Given the description of an element on the screen output the (x, y) to click on. 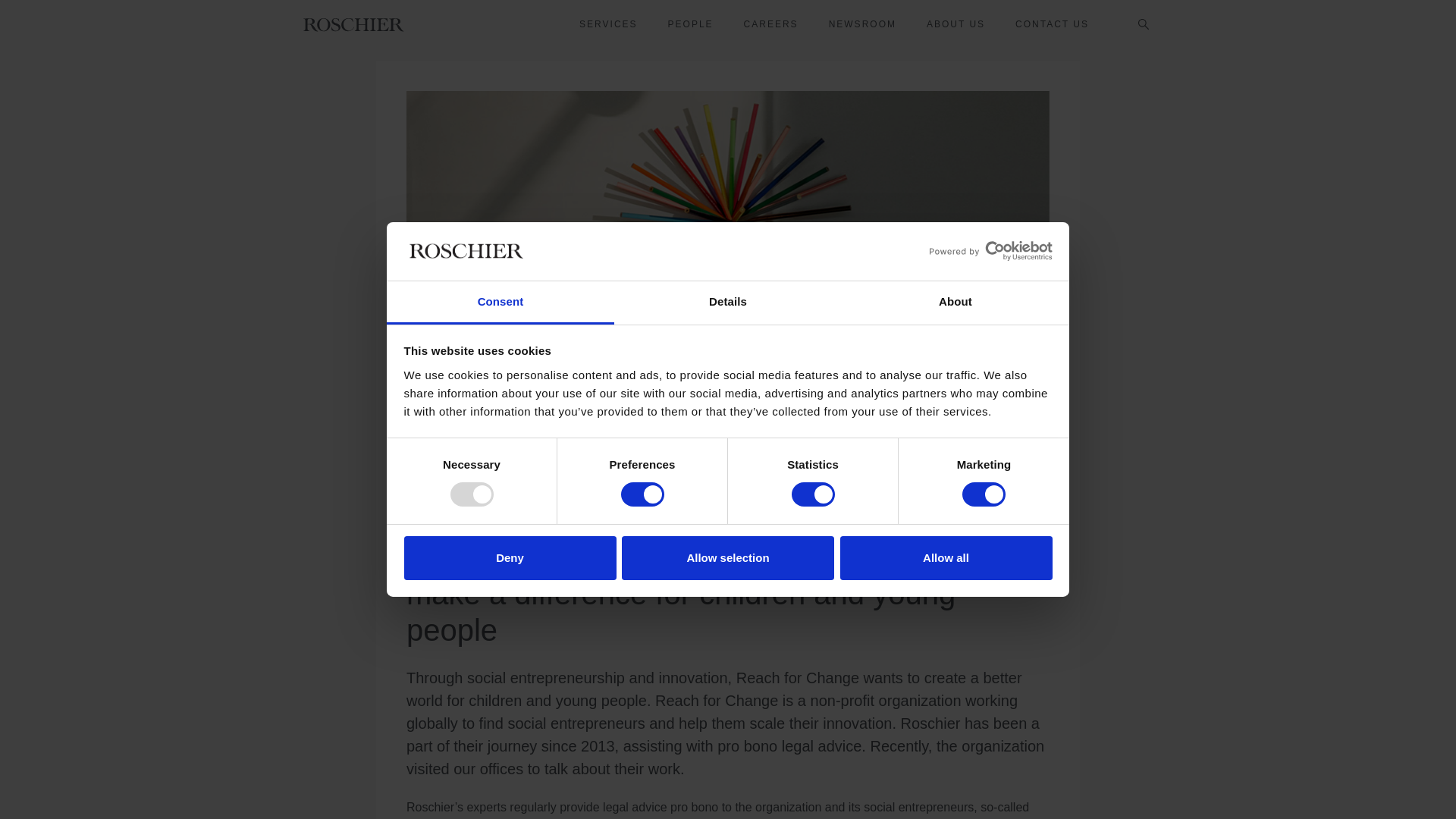
Allow all (946, 557)
About (954, 302)
Details (727, 302)
Deny (509, 557)
SERVICES (608, 24)
Consent (500, 302)
Allow selection (727, 557)
